Given the description of an element on the screen output the (x, y) to click on. 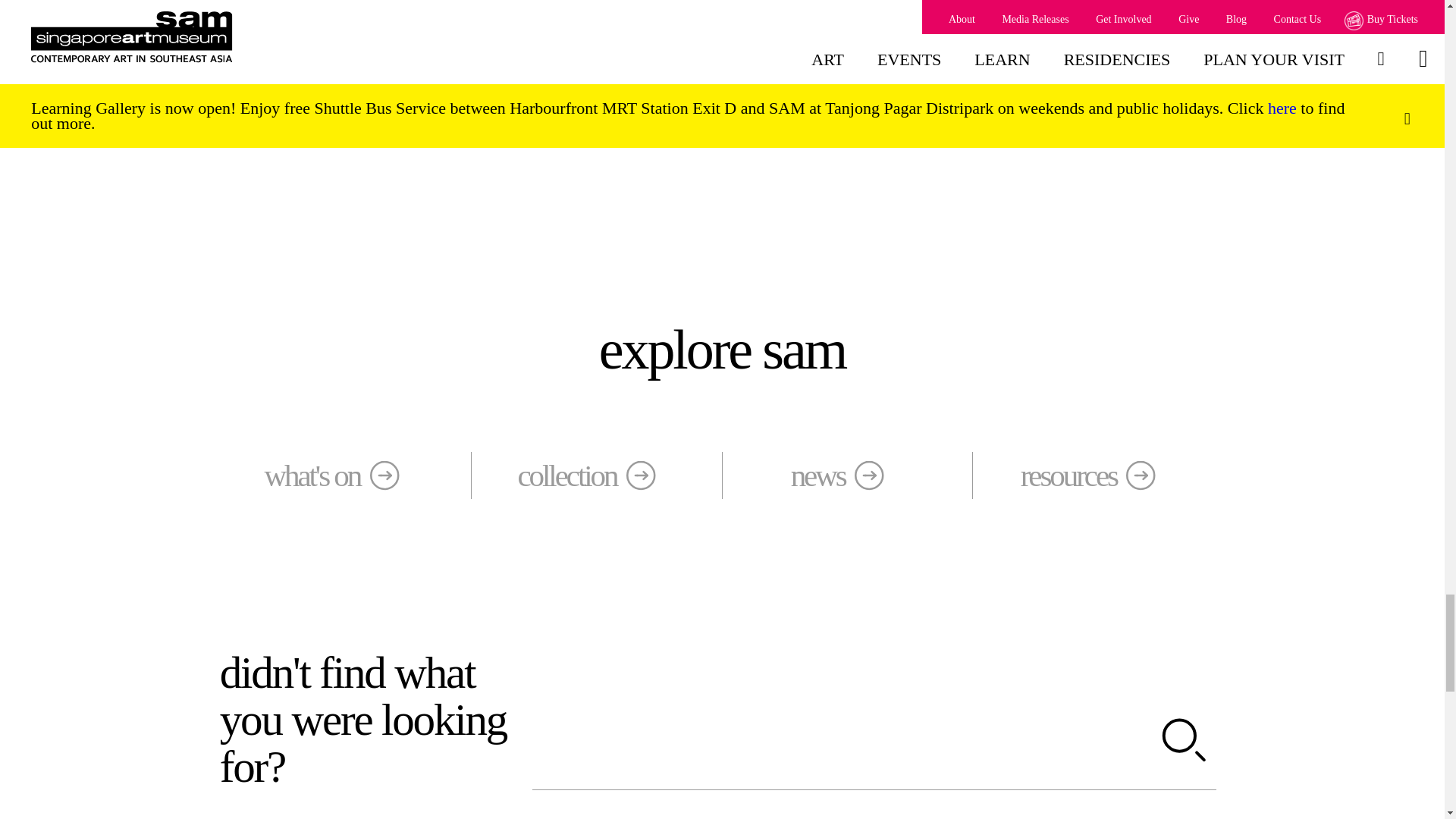
Search Form (873, 741)
resources (1098, 475)
what's on (345, 475)
collection (596, 475)
news (847, 475)
search (1184, 741)
